Given the description of an element on the screen output the (x, y) to click on. 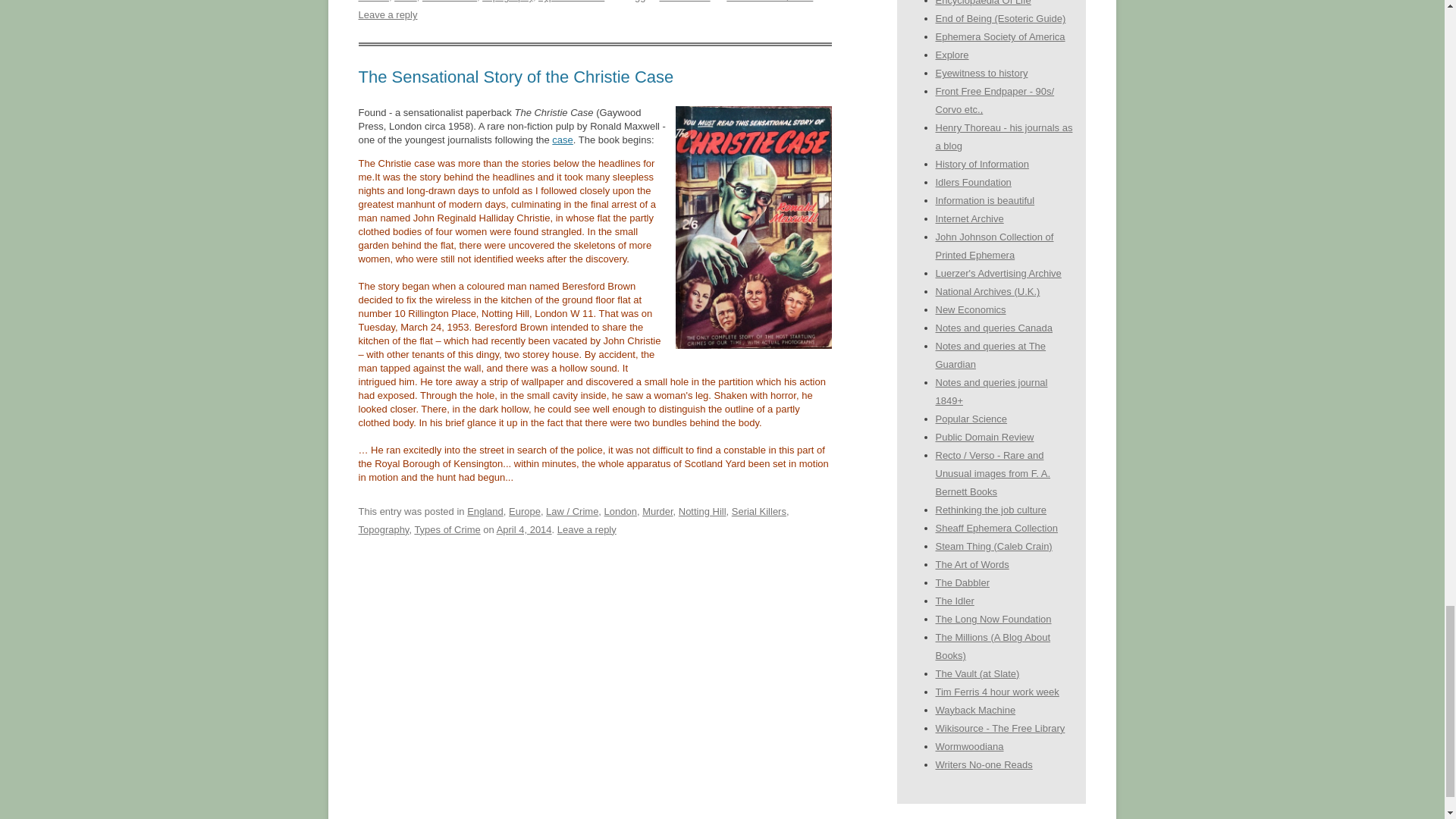
10:31 pm (769, 1)
1:39 pm (523, 529)
